Given the description of an element on the screen output the (x, y) to click on. 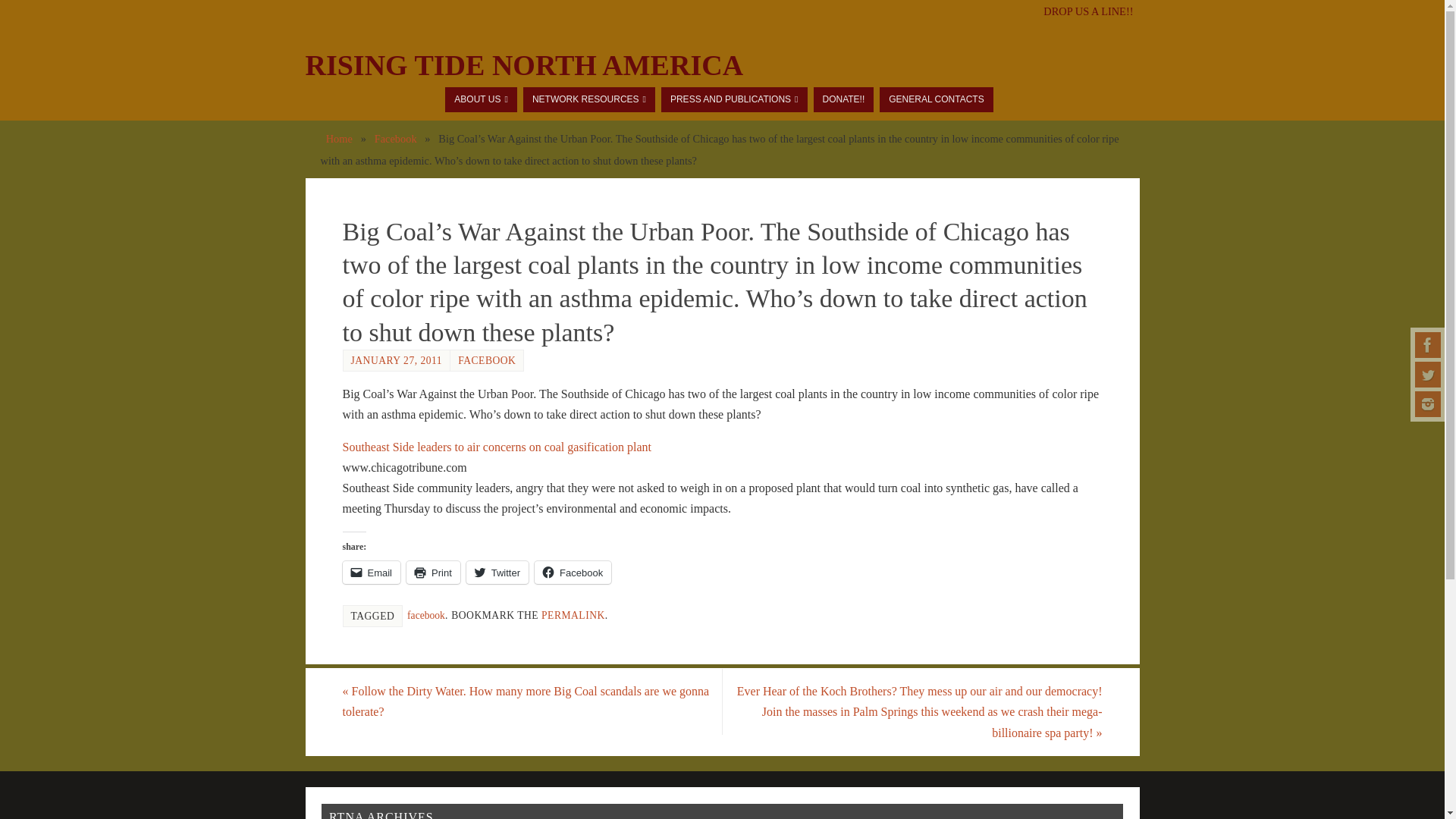
Click to share on Twitter (496, 572)
Home (339, 138)
GENERAL CONTACTS (935, 98)
NETWORK RESOURCES (588, 98)
FACEBOOK (486, 360)
PRESS AND PUBLICATIONS (734, 98)
DONATE!! (842, 98)
RISING TIDE NORTH AMERICA (523, 64)
Rising Tide North America (523, 64)
JANUARY 27, 2011 (396, 360)
ABOUT US (480, 98)
Twitter (1428, 374)
Facebook (395, 138)
DROP US A LINE!! (1088, 11)
Facebook (1428, 344)
